Given the description of an element on the screen output the (x, y) to click on. 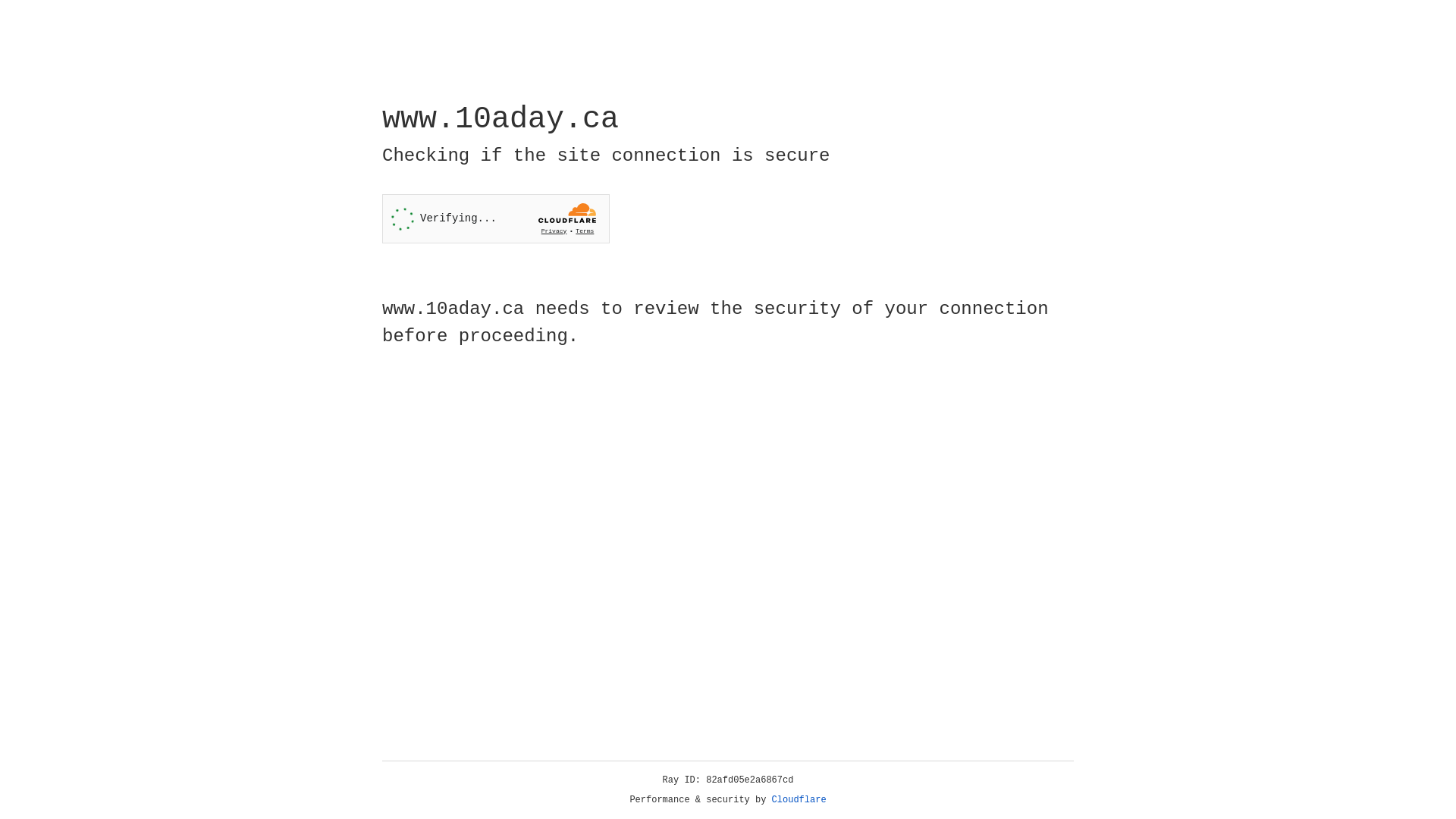
Widget containing a Cloudflare security challenge Element type: hover (495, 218)
Cloudflare Element type: text (798, 799)
